Given the description of an element on the screen output the (x, y) to click on. 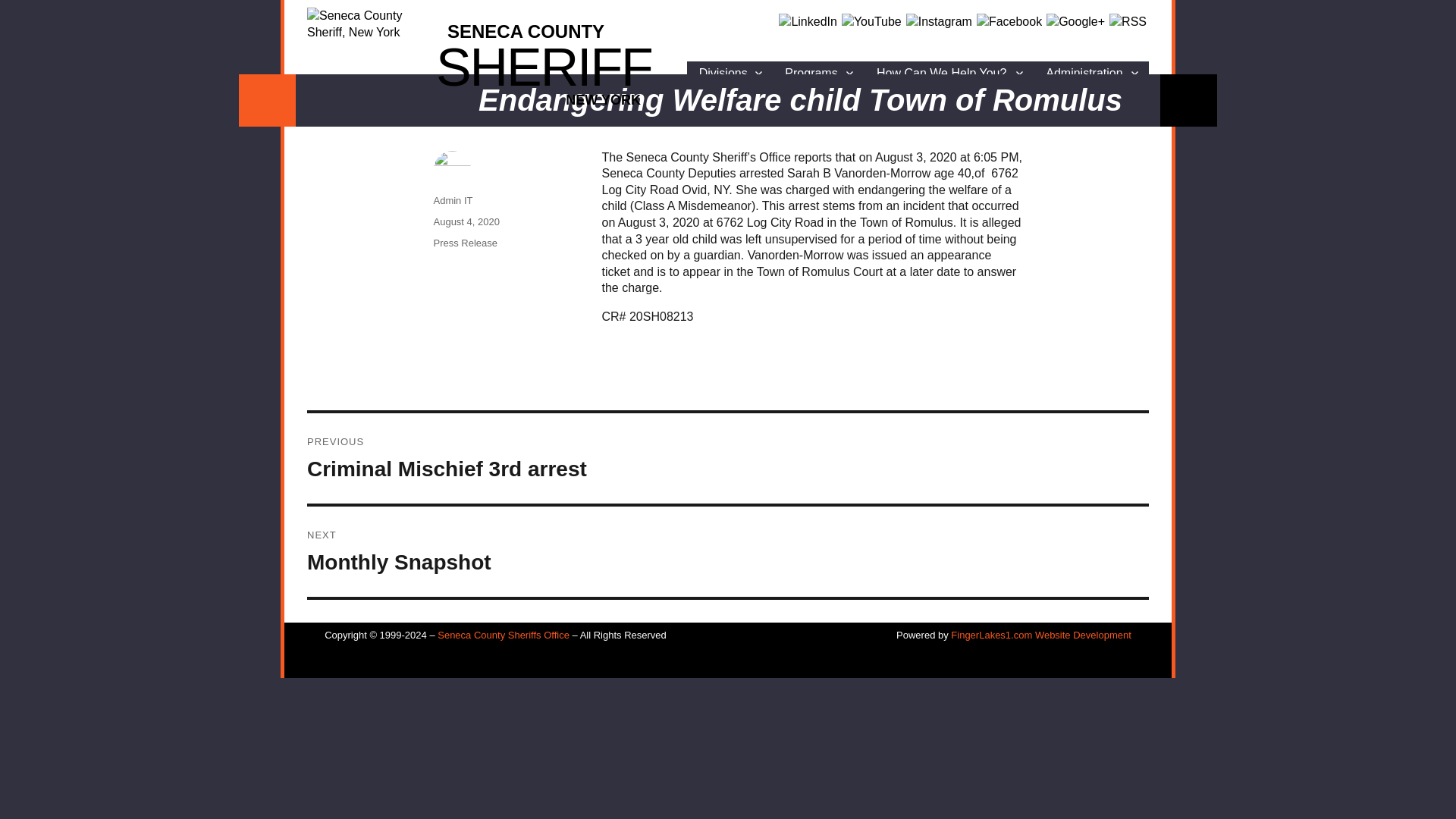
Seneca County Sheriff, New York (485, 56)
Divisions (485, 56)
Programs (730, 72)
